Given the description of an element on the screen output the (x, y) to click on. 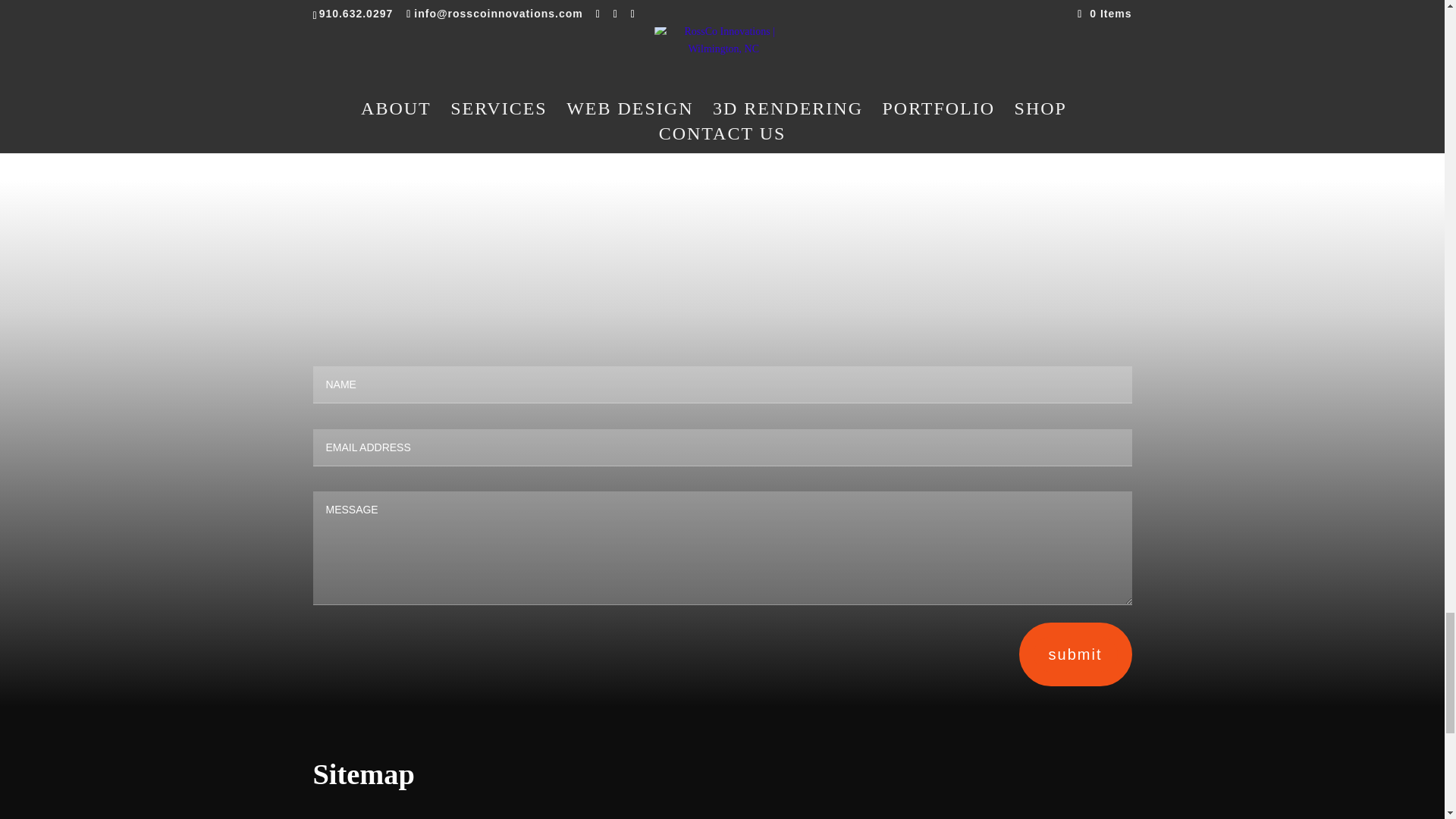
submit (1075, 654)
